Given the description of an element on the screen output the (x, y) to click on. 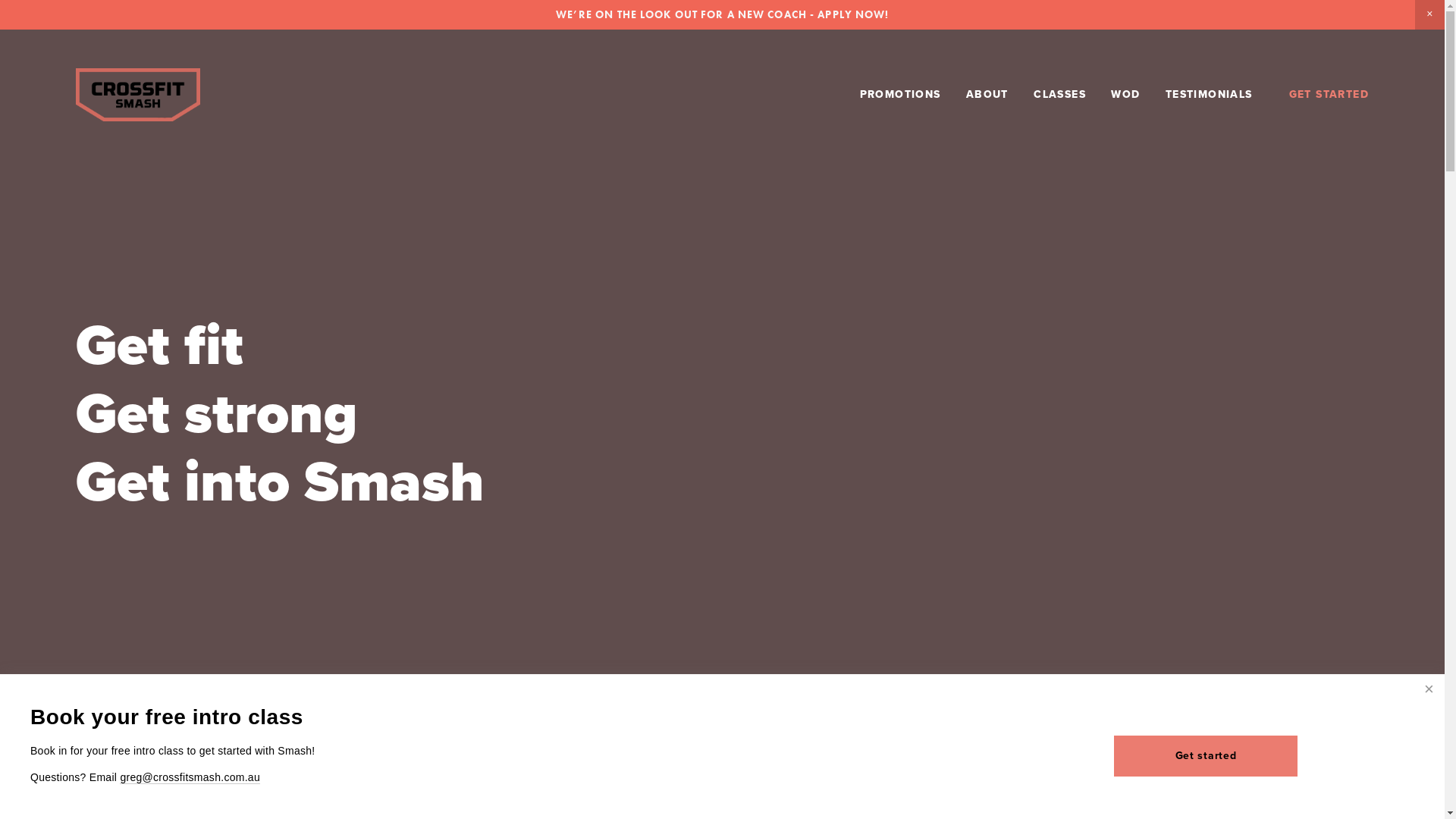
Get started Element type: text (1205, 755)
ABOUT Element type: text (987, 94)
TESTIMONIALS Element type: text (1208, 94)
WOD Element type: text (1124, 94)
PROMOTIONS Element type: text (900, 94)
GET STARTED Element type: text (1328, 94)
CLASSES Element type: text (1059, 94)
greg@crossfitsmash.com.au Element type: text (189, 777)
